Given the description of an element on the screen output the (x, y) to click on. 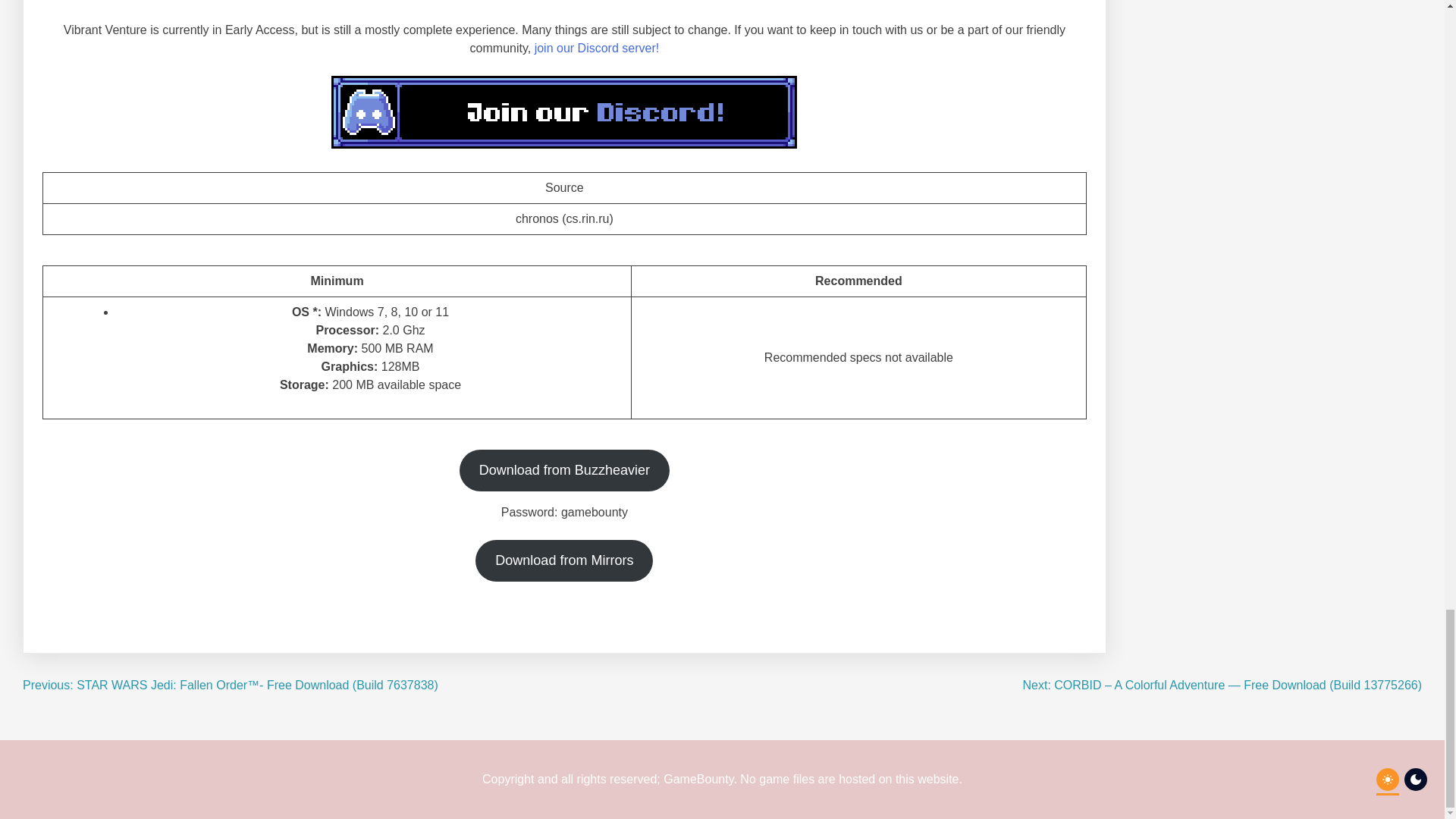
join our Discord server! (596, 47)
Download from Mirrors (564, 560)
Download from Buzzheavier (564, 470)
